Given the description of an element on the screen output the (x, y) to click on. 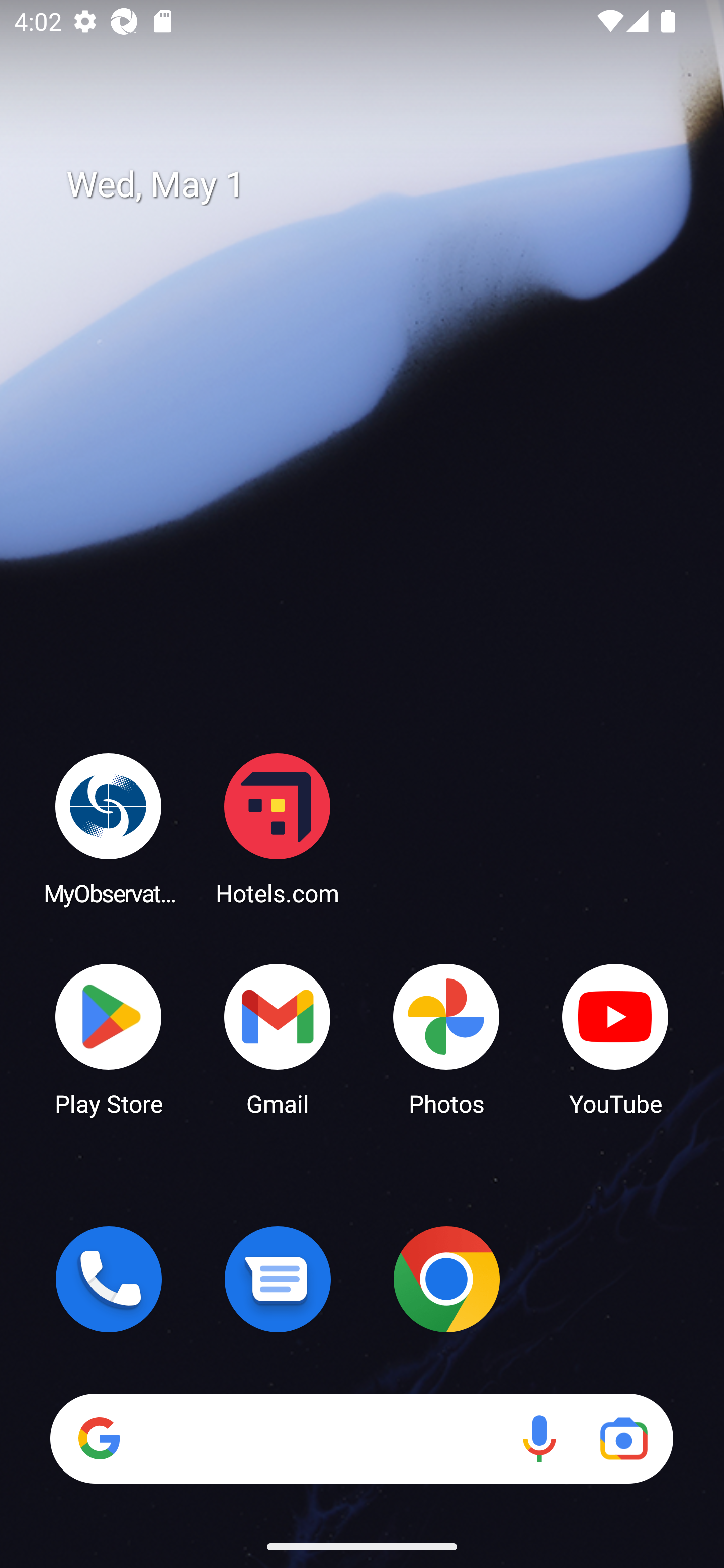
Wed, May 1 (375, 184)
MyObservatory (108, 828)
Hotels.com (277, 828)
Play Store (108, 1038)
Gmail (277, 1038)
Photos (445, 1038)
YouTube (615, 1038)
Phone (108, 1279)
Messages (277, 1279)
Chrome (446, 1279)
Search Voice search Google Lens (361, 1438)
Voice search (539, 1438)
Google Lens (623, 1438)
